Given the description of an element on the screen output the (x, y) to click on. 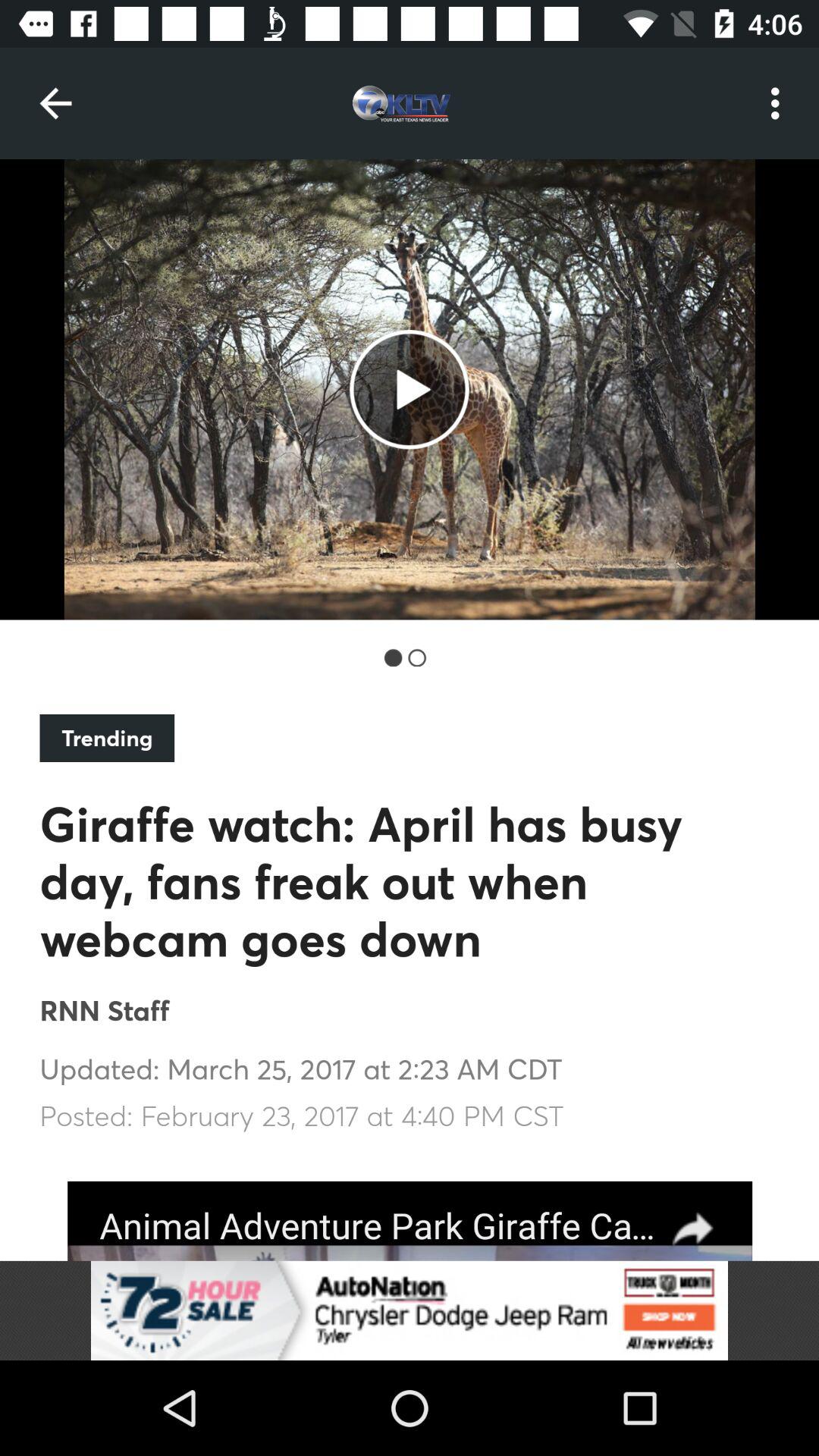
visit advertiser (409, 1310)
